Given the description of an element on the screen output the (x, y) to click on. 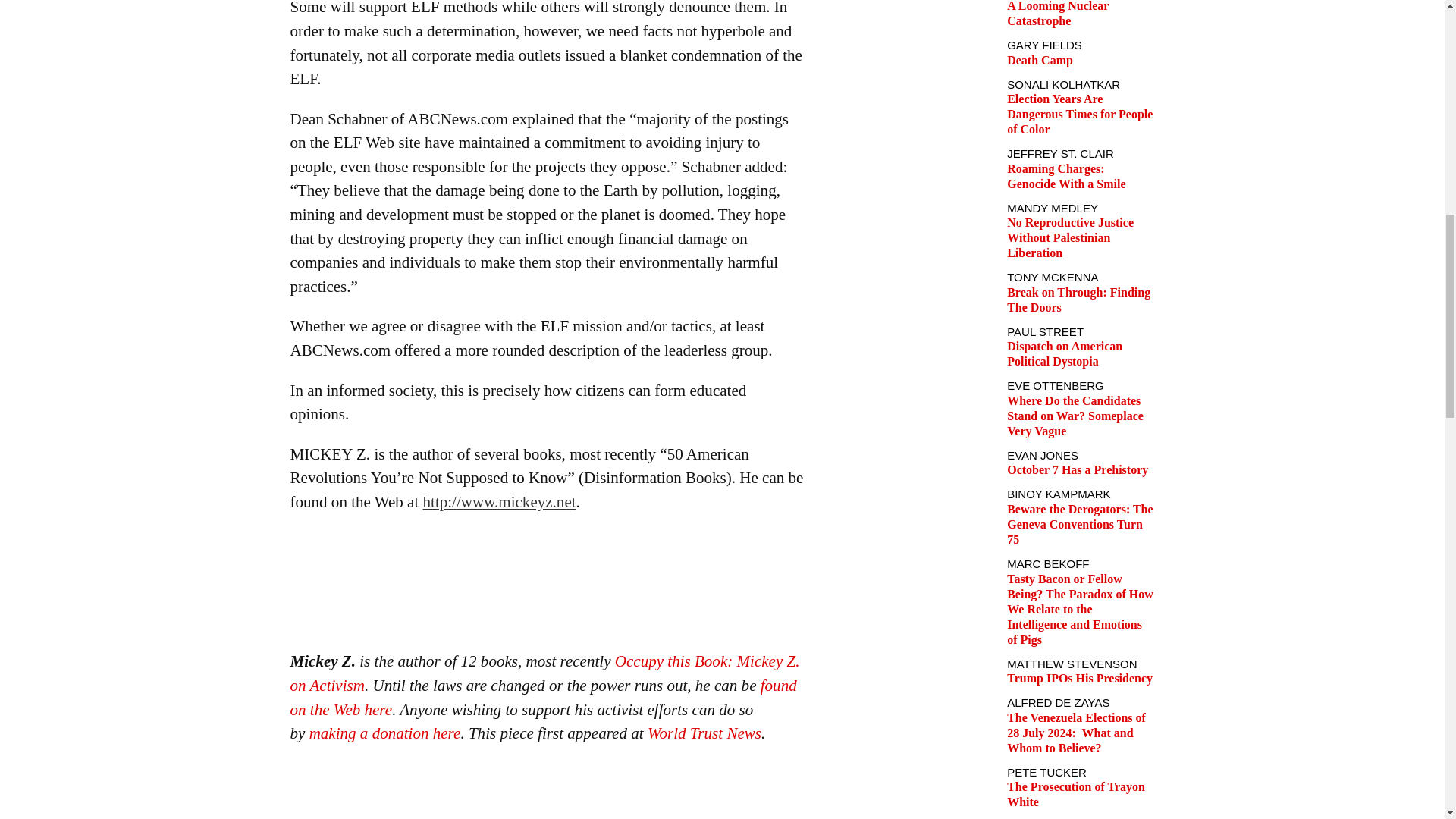
found on the Web here (542, 697)
making a donation here (384, 732)
World Trust News (704, 732)
Occupy this Book: Mickey Z. on Activism (544, 672)
